Given the description of an element on the screen output the (x, y) to click on. 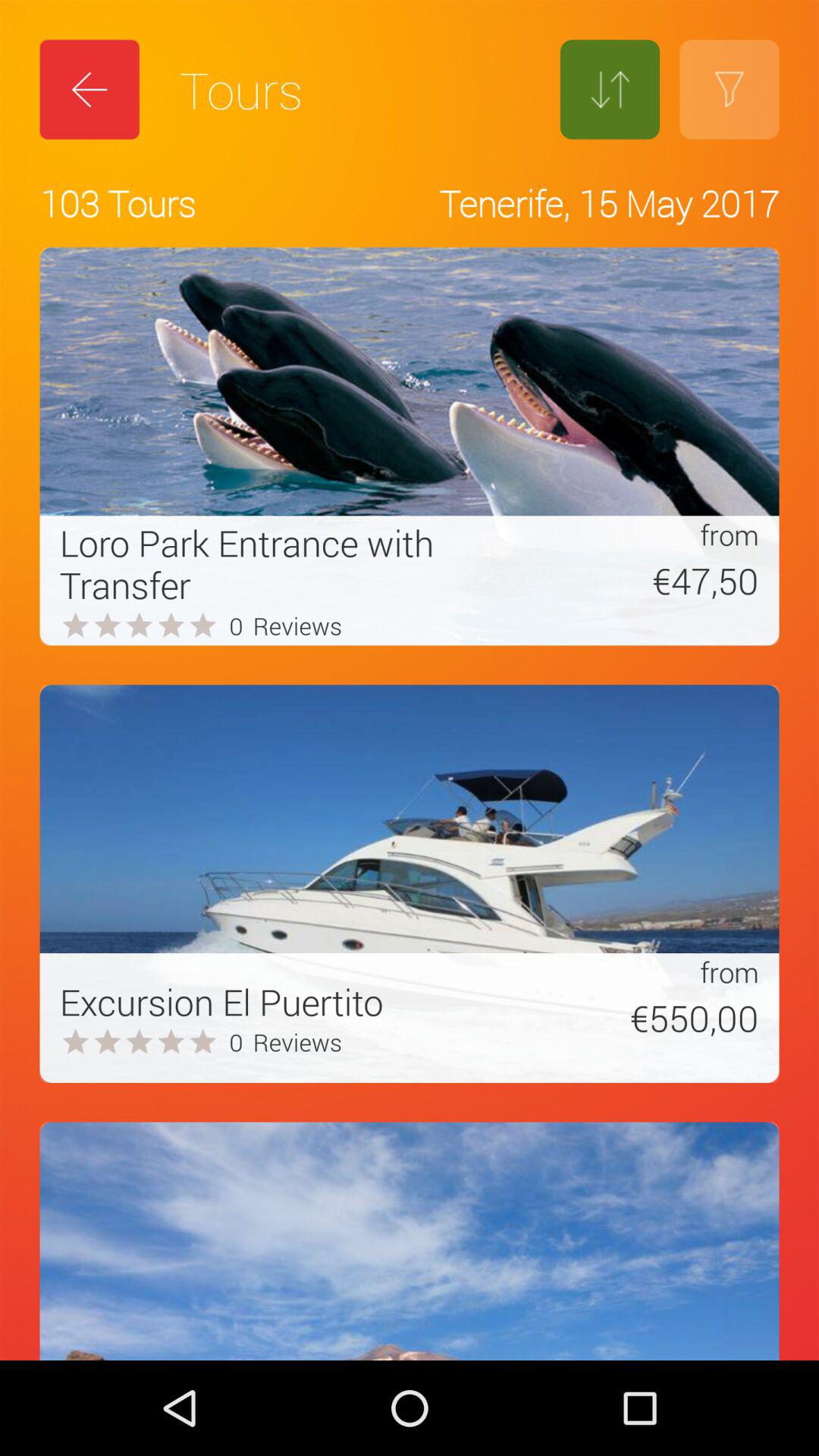
press item below the 103 tours icon (283, 563)
